Given the description of an element on the screen output the (x, y) to click on. 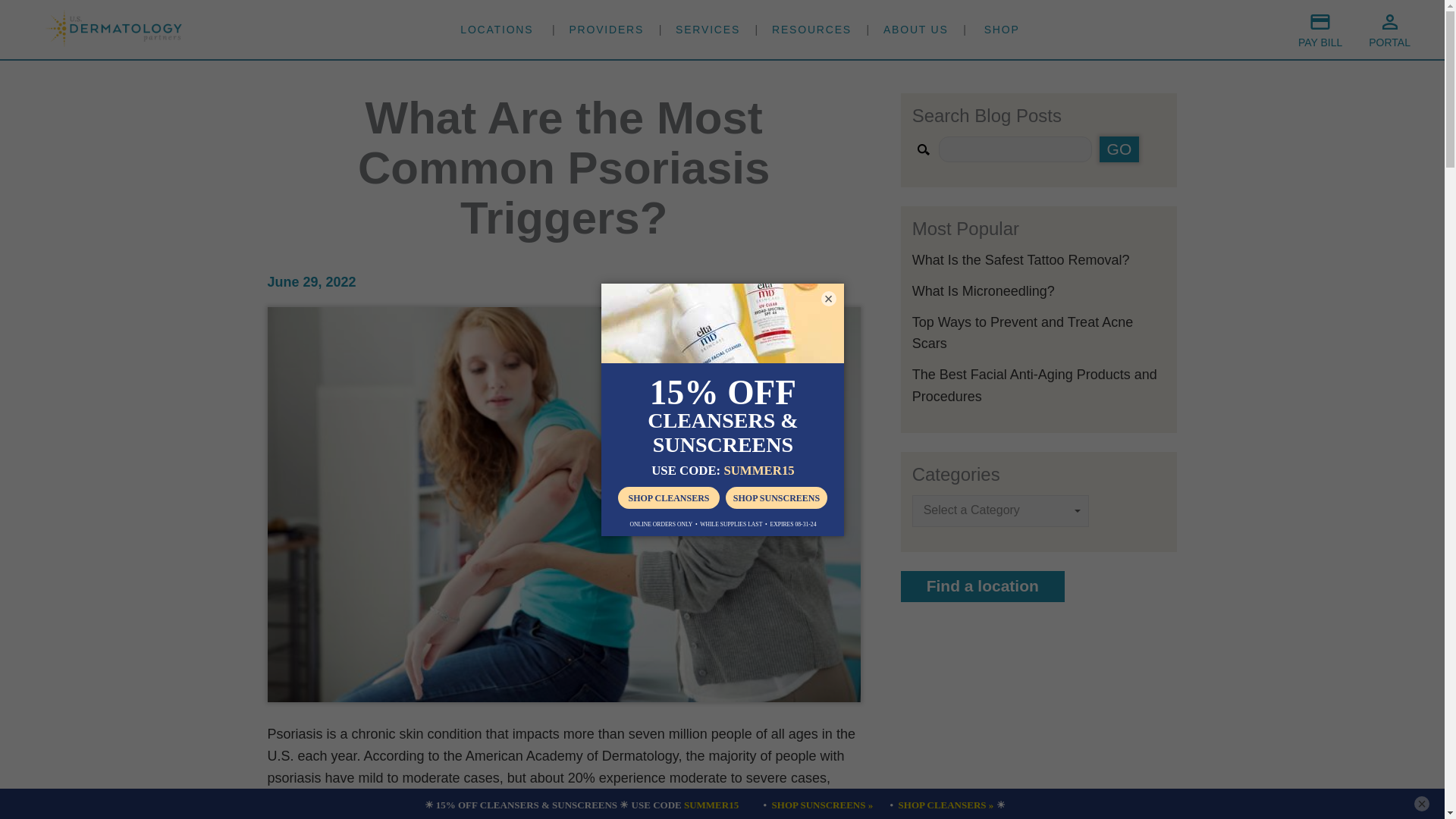
ABOUT US (916, 29)
PROVIDERS (606, 29)
PAY BILL (1320, 29)
SERVICES (707, 29)
GO (1119, 149)
U.S. Dermatology Partners Home Page (113, 42)
PORTAL (1389, 29)
LOCATIONS (496, 29)
GO (1119, 149)
RESOURCES (811, 29)
